Given the description of an element on the screen output the (x, y) to click on. 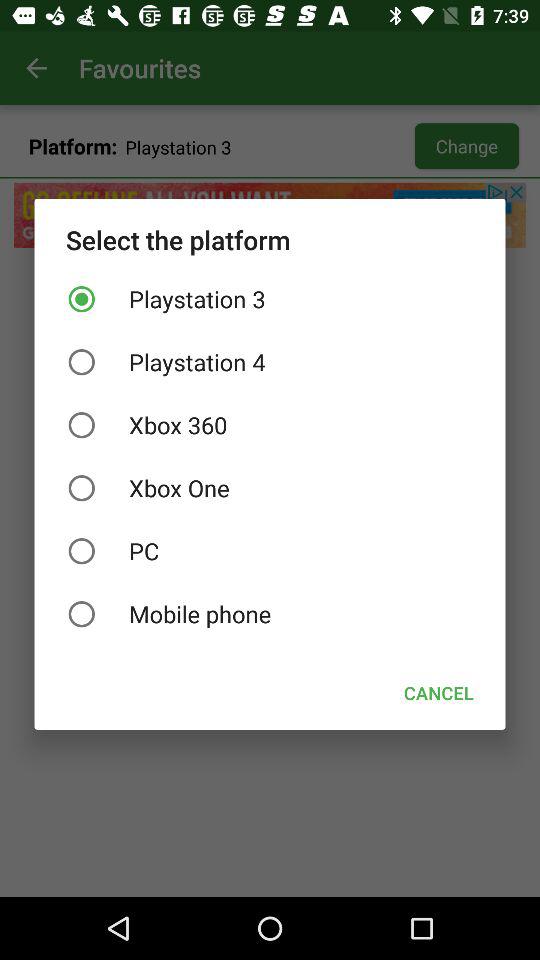
tap the item below mobile phone (438, 692)
